Given the description of an element on the screen output the (x, y) to click on. 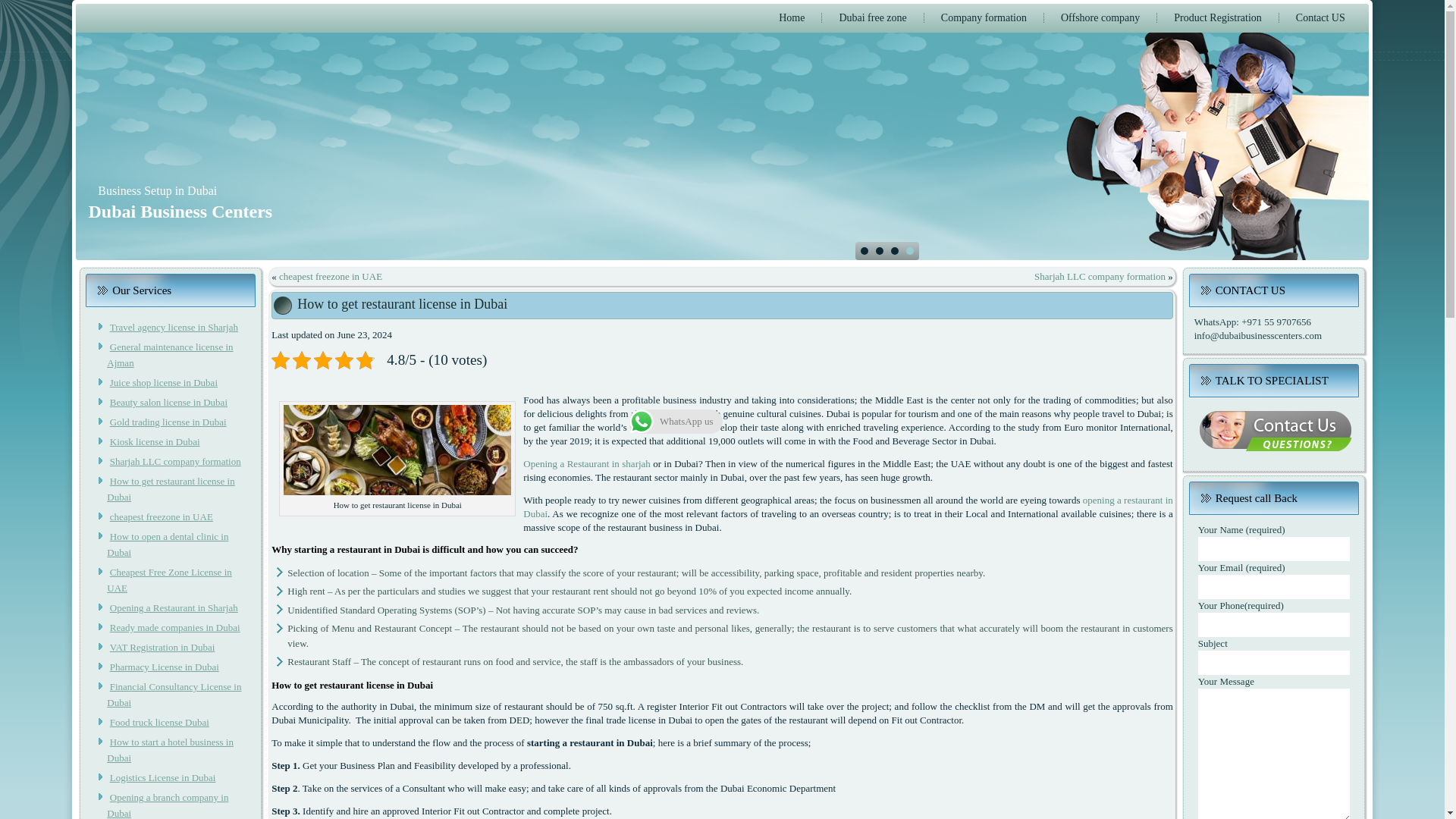
Contact US (1320, 17)
Dubai freezone company formation (872, 17)
Home (791, 17)
Business Setup in Dubai (156, 190)
Home (791, 17)
Company formation (984, 17)
Company formation (984, 17)
Travel agency license in Sharjah (174, 326)
Product Registration (1217, 17)
Offshore company (1099, 17)
Dubai free zone (872, 17)
